Given the description of an element on the screen output the (x, y) to click on. 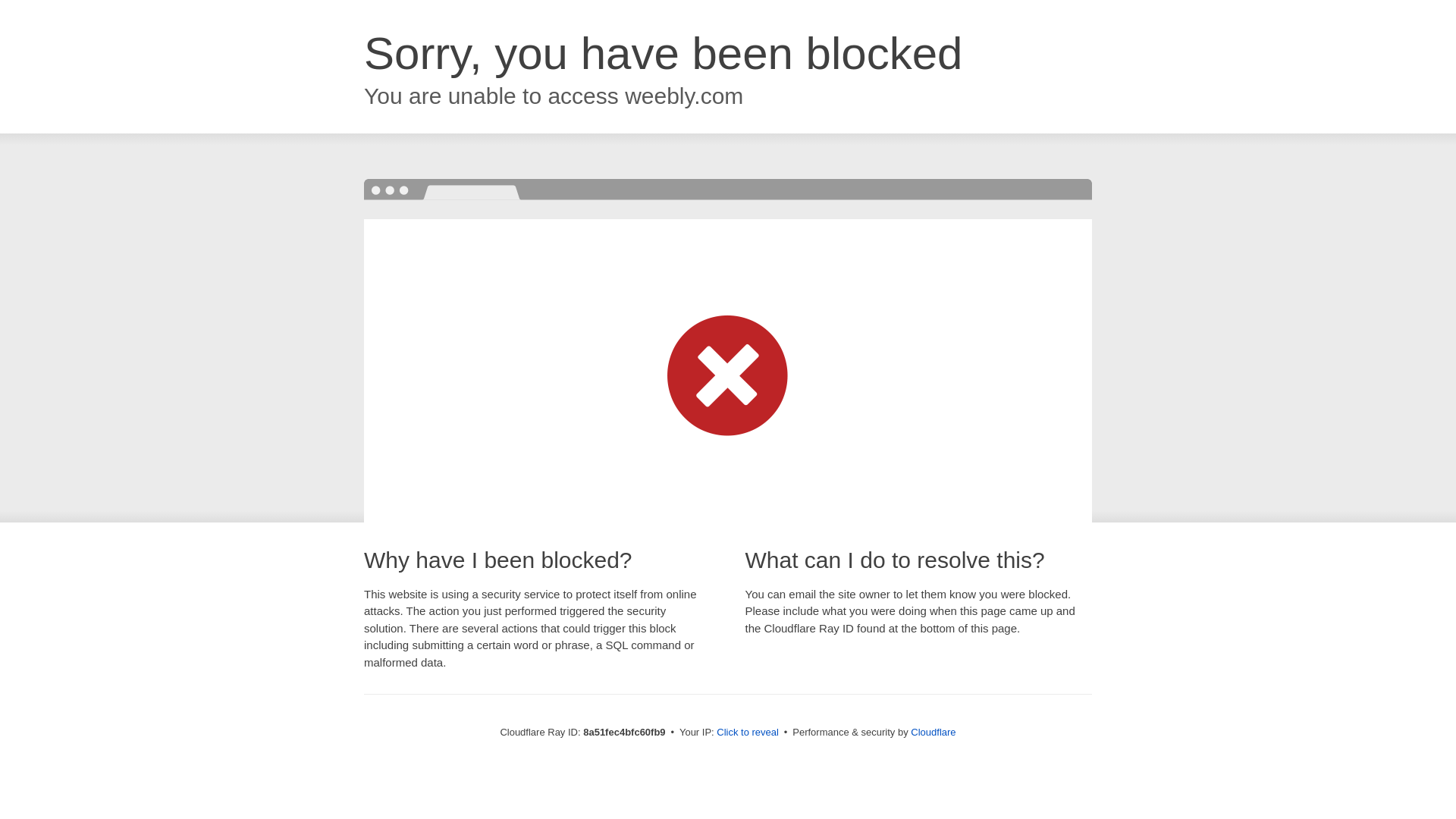
Click to reveal (747, 732)
Cloudflare (933, 731)
